Given the description of an element on the screen output the (x, y) to click on. 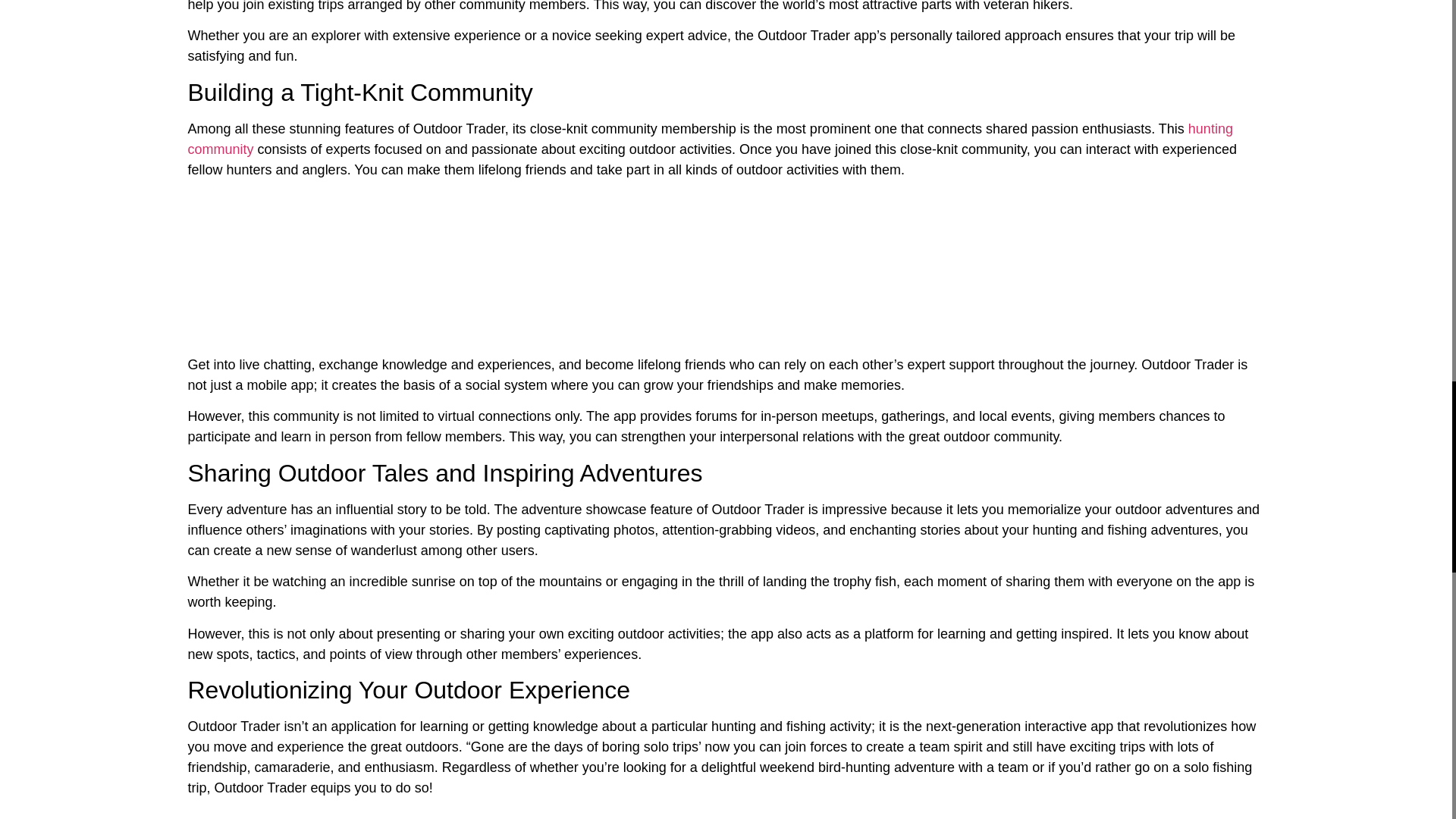
hunting community (710, 139)
